Given the description of an element on the screen output the (x, y) to click on. 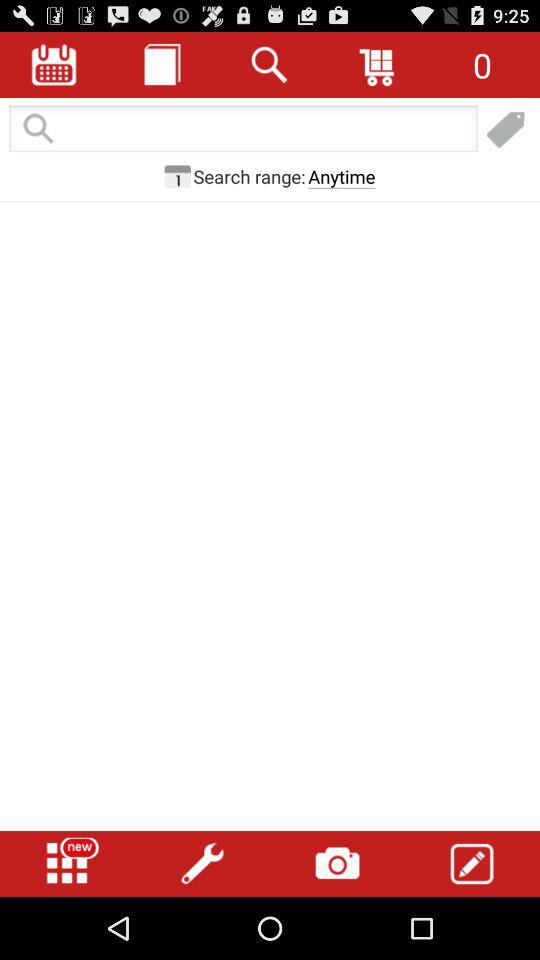
press for settings (202, 863)
